Given the description of an element on the screen output the (x, y) to click on. 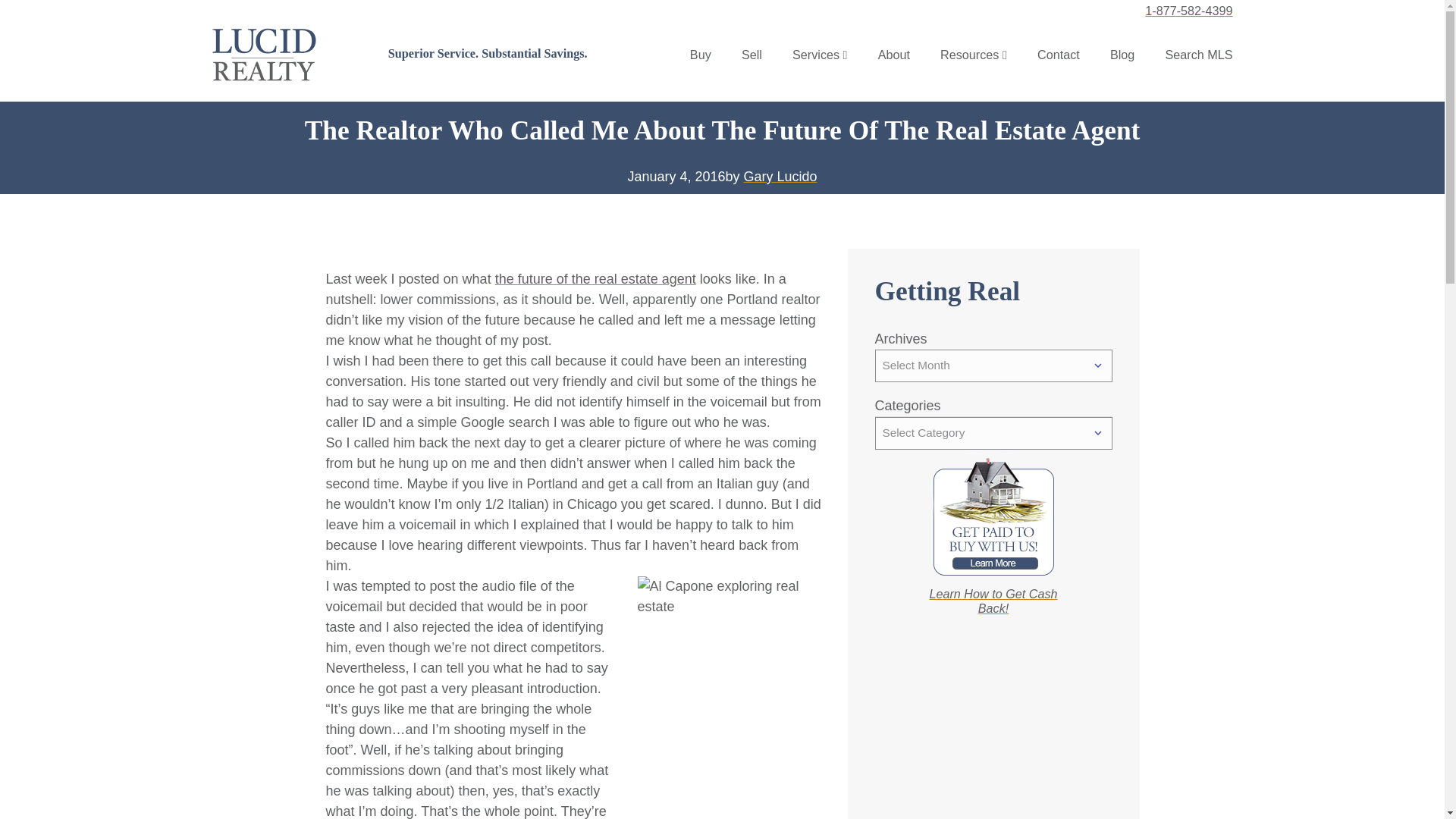
Search MLS (1197, 54)
Learn How to Get Cash Back! (992, 601)
Resources (969, 54)
Gary Lucido (780, 176)
Services (816, 54)
Contact (1058, 54)
Sell (751, 54)
the future of the real estate agent (595, 278)
Blog (1121, 54)
Buy (700, 54)
1-877-582-4399 (1187, 10)
About (893, 54)
